Given the description of an element on the screen output the (x, y) to click on. 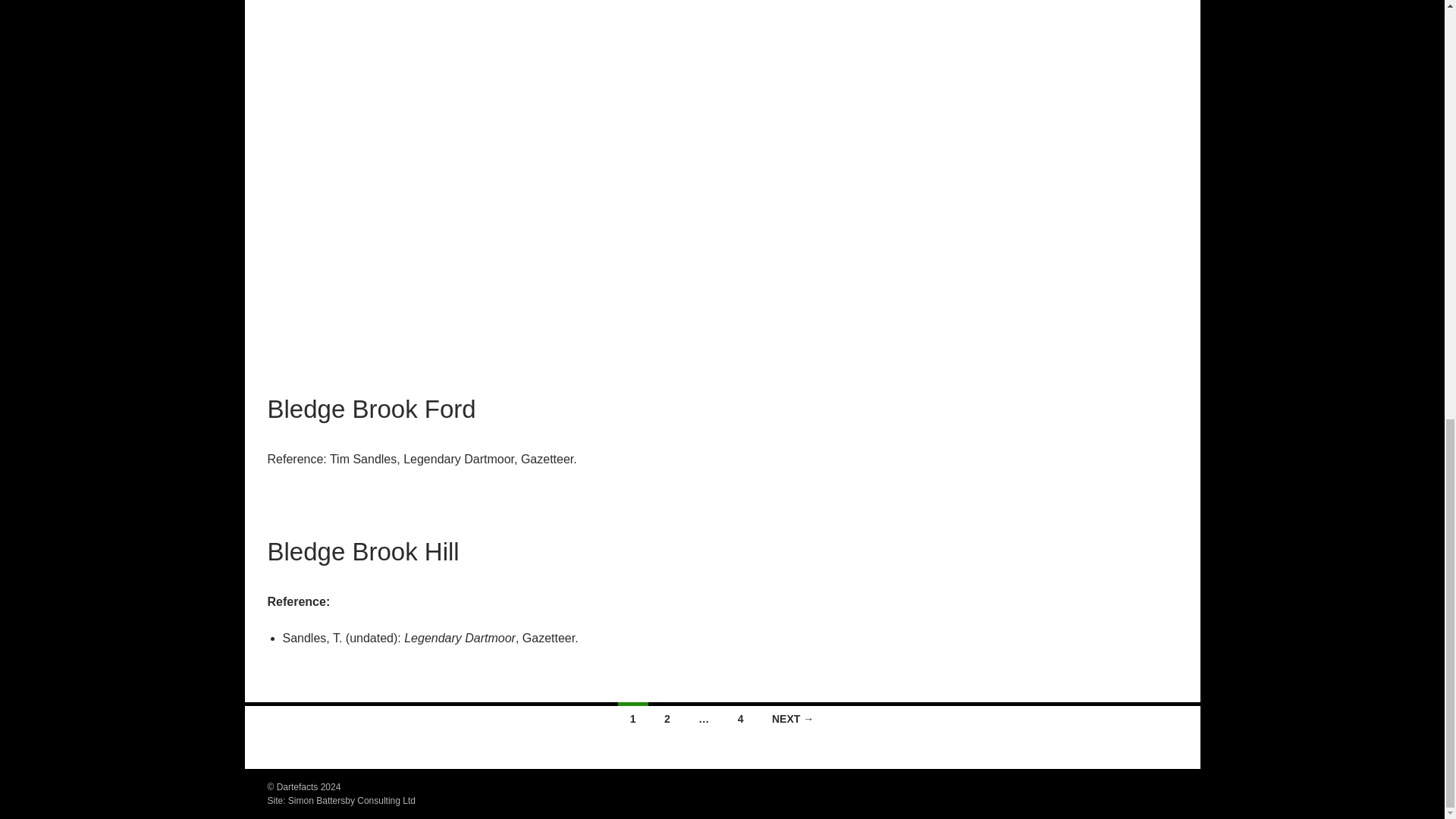
Simon Battersby Consulting Ltd (351, 800)
Bledge Brook Hill (362, 551)
2 (667, 716)
Bledge Brook Ford (371, 408)
4 (740, 716)
